Given the description of an element on the screen output the (x, y) to click on. 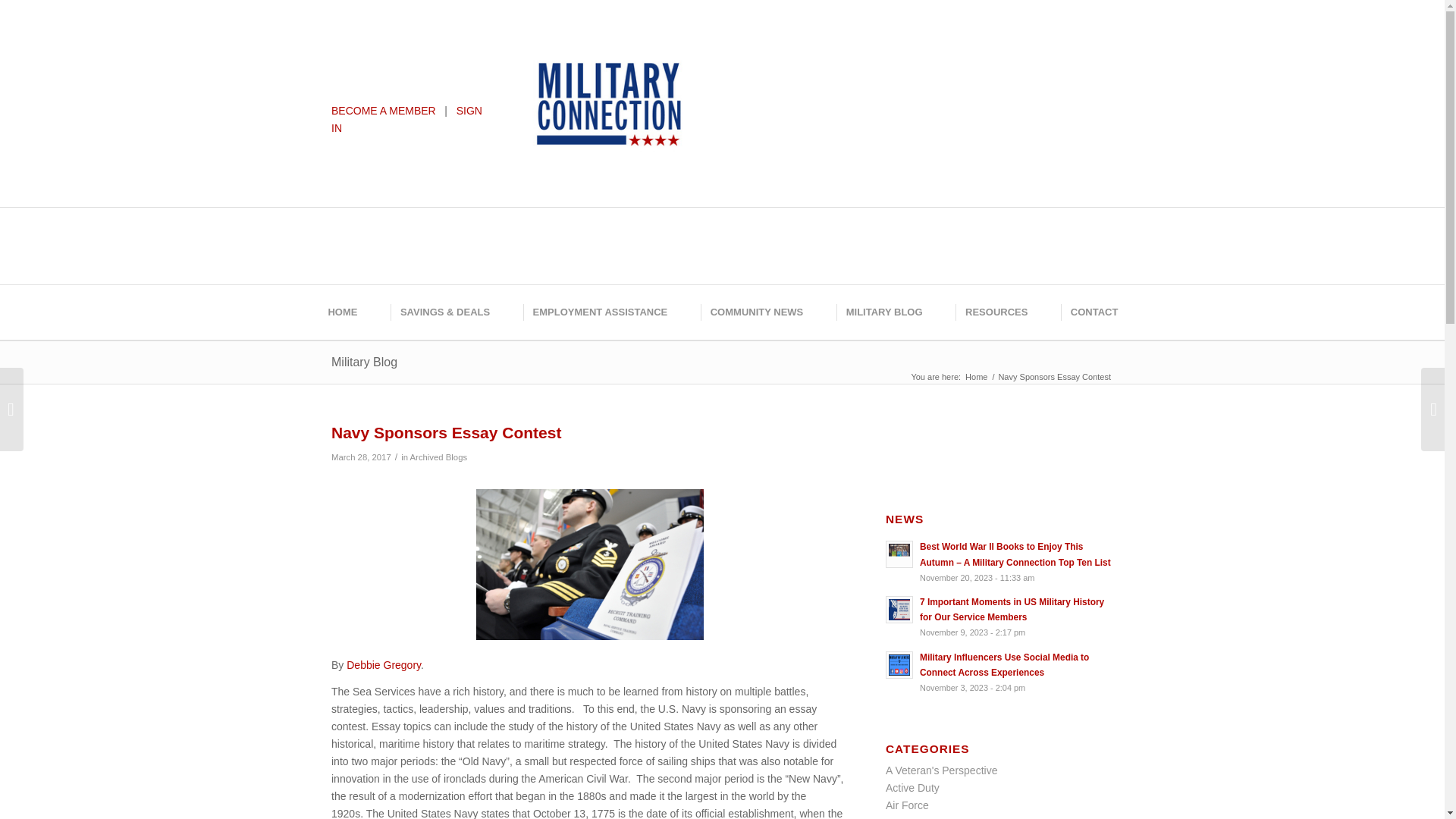
BECOME A MEMBER (383, 110)
EMPLOYMENT ASSISTANCE (598, 311)
MILITARY BLOG (882, 311)
Military Blog (364, 361)
Debbie Gregory (383, 664)
SIGN IN (406, 119)
RESOURCES (995, 311)
Military Connection (976, 377)
COMMUNITY NEWS (755, 311)
Home (976, 377)
